Given the description of an element on the screen output the (x, y) to click on. 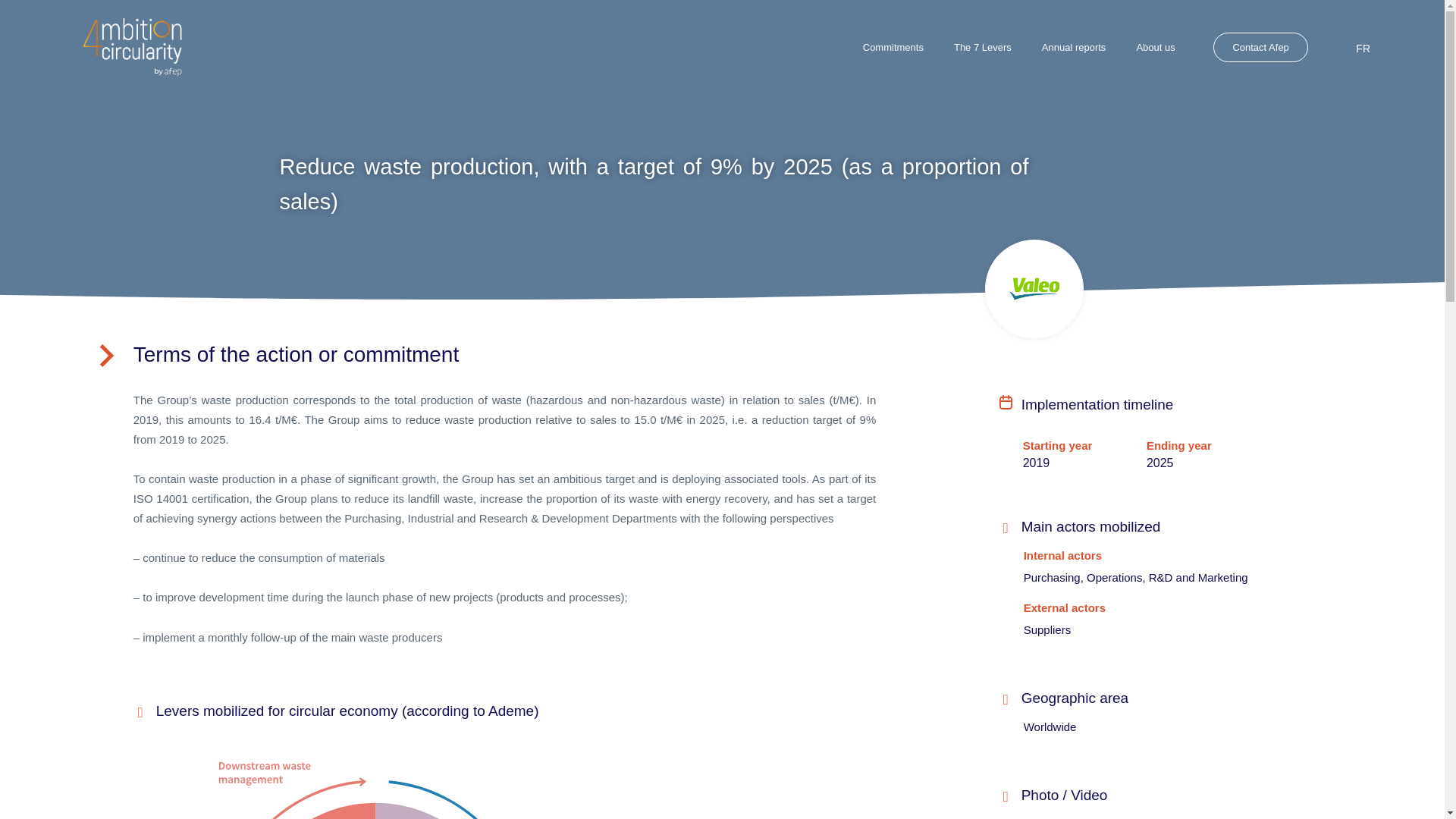
FR (1359, 47)
Commitments (893, 47)
The 7 Levers (982, 47)
About us (1155, 47)
Annual reports (1073, 47)
Contact Afep (1259, 47)
